Given the description of an element on the screen output the (x, y) to click on. 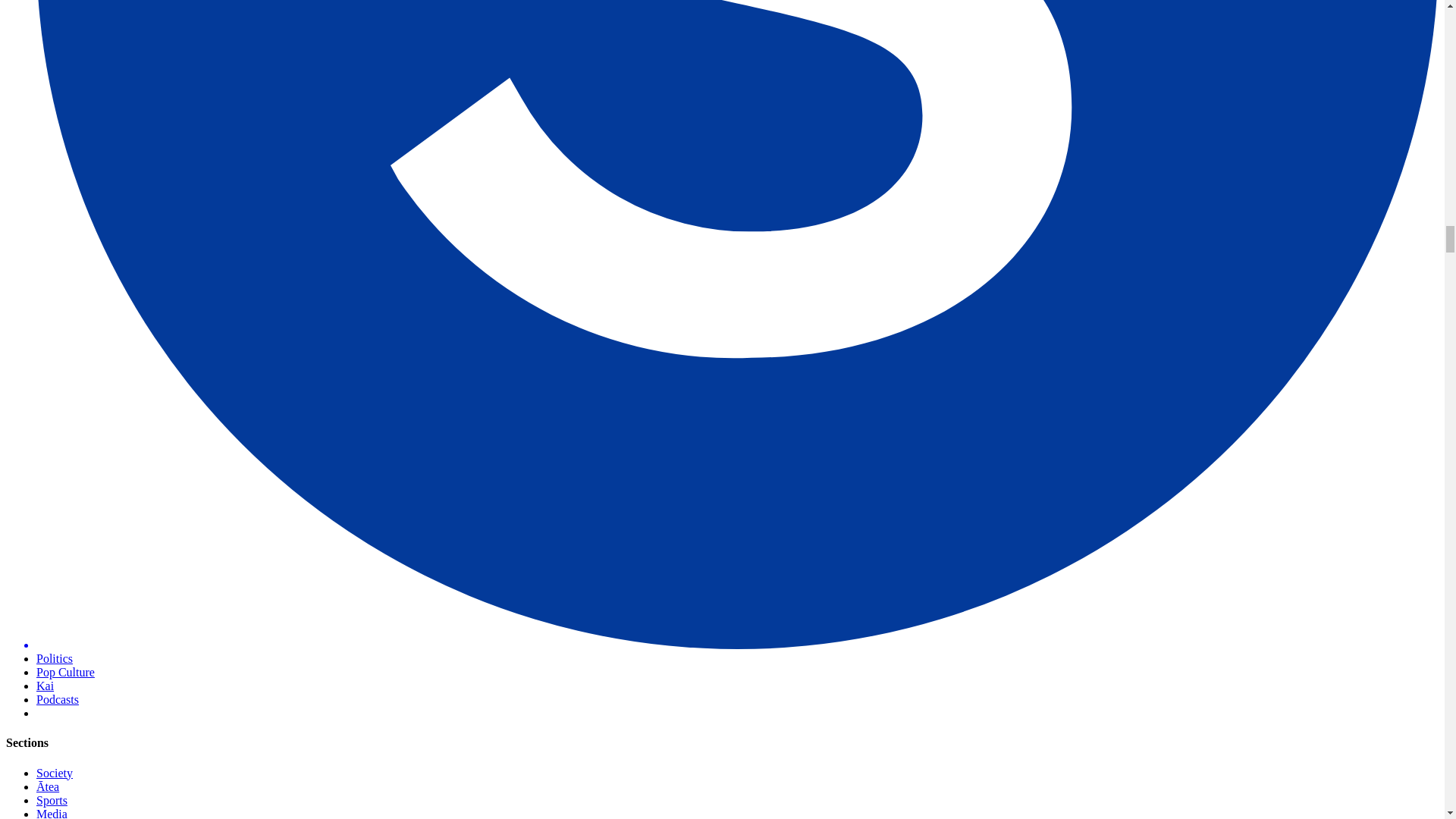
Pop Culture (65, 671)
Sports (51, 799)
Society (54, 772)
Kai (44, 685)
Podcasts (57, 698)
Politics (54, 658)
Media (51, 813)
